Given the description of an element on the screen output the (x, y) to click on. 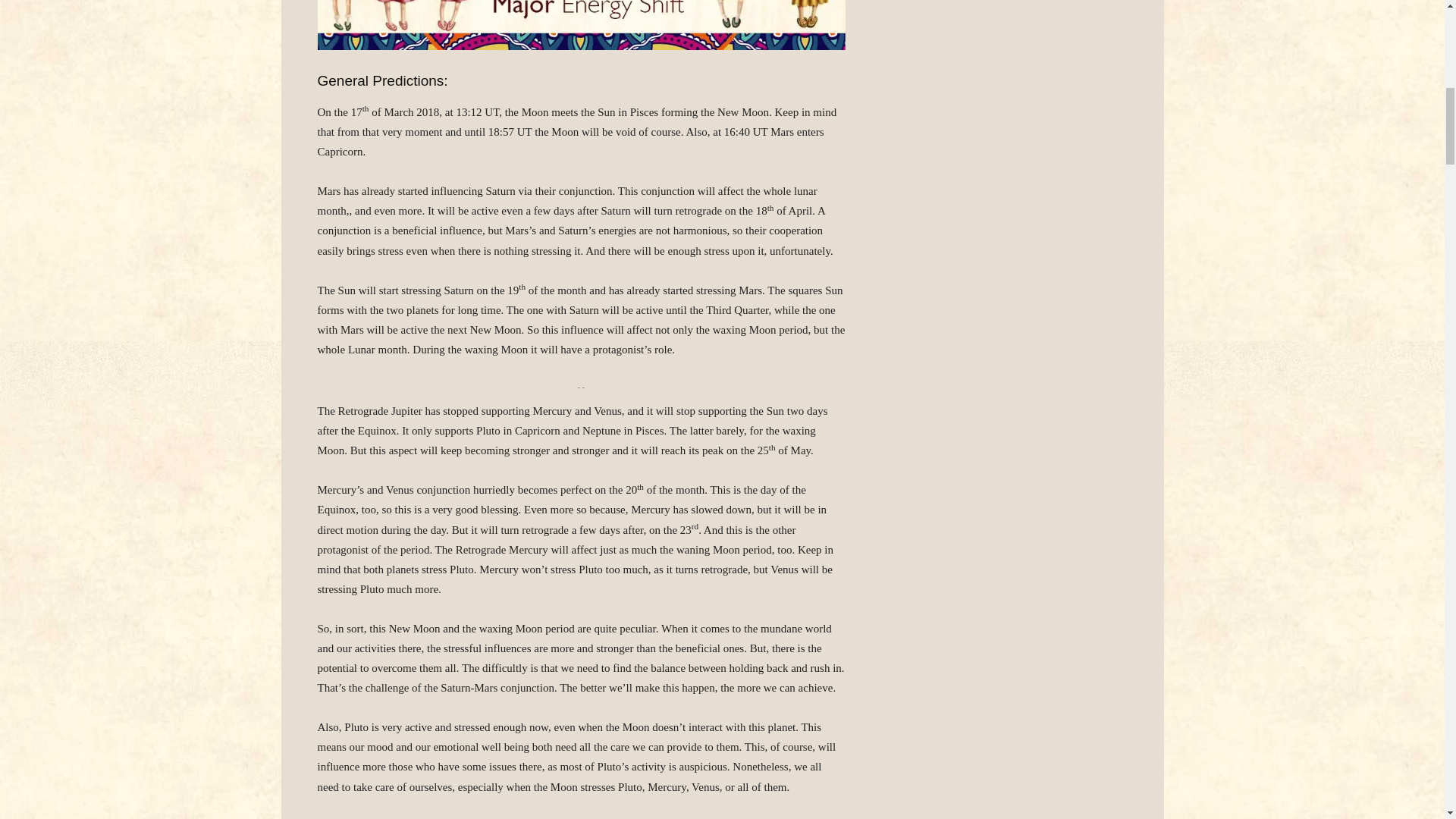
Predictions for the New Moon in Pisces (580, 24)
